Given the description of an element on the screen output the (x, y) to click on. 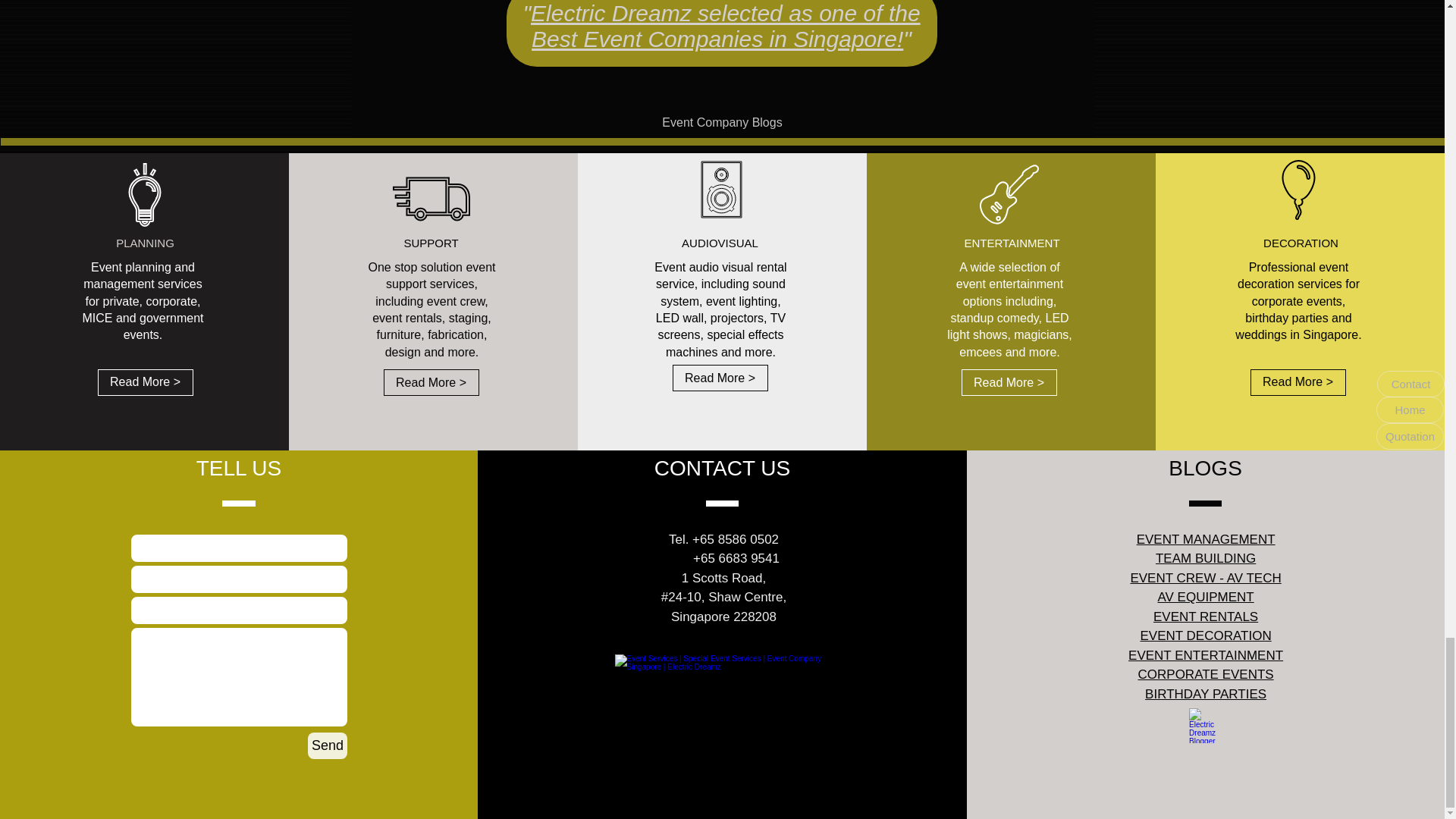
Event Company in Singapore for Event Services (722, 701)
Electric Dreamz Blogger (1206, 725)
